Given the description of an element on the screen output the (x, y) to click on. 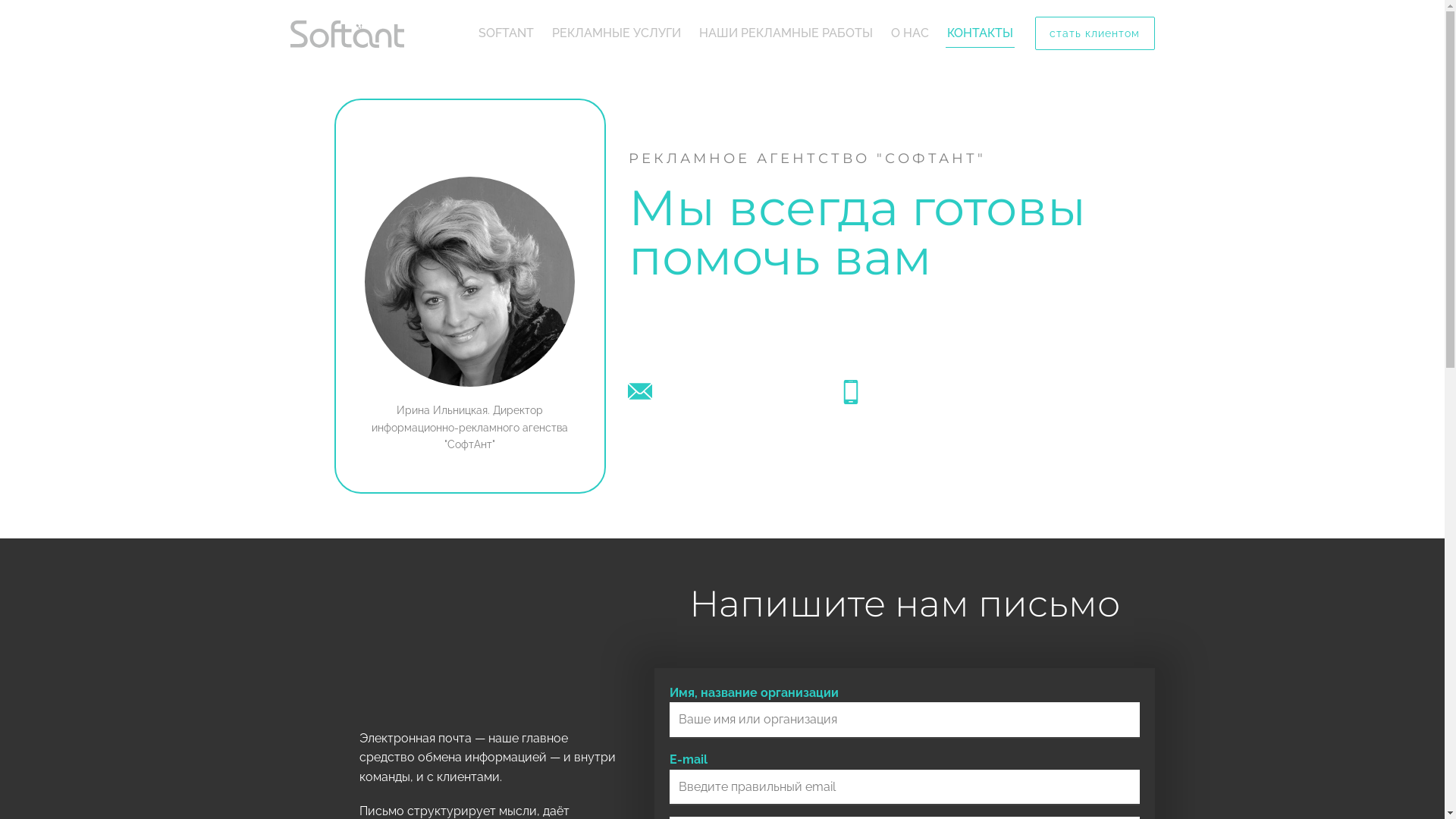
 info@mebel.by Element type: text (703, 391)
SOFTANT Element type: text (505, 33)
SoftAnt Element type: hover (346, 33)
 +375 (29) 686-8941 Element type: text (921, 391)
